Given the description of an element on the screen output the (x, y) to click on. 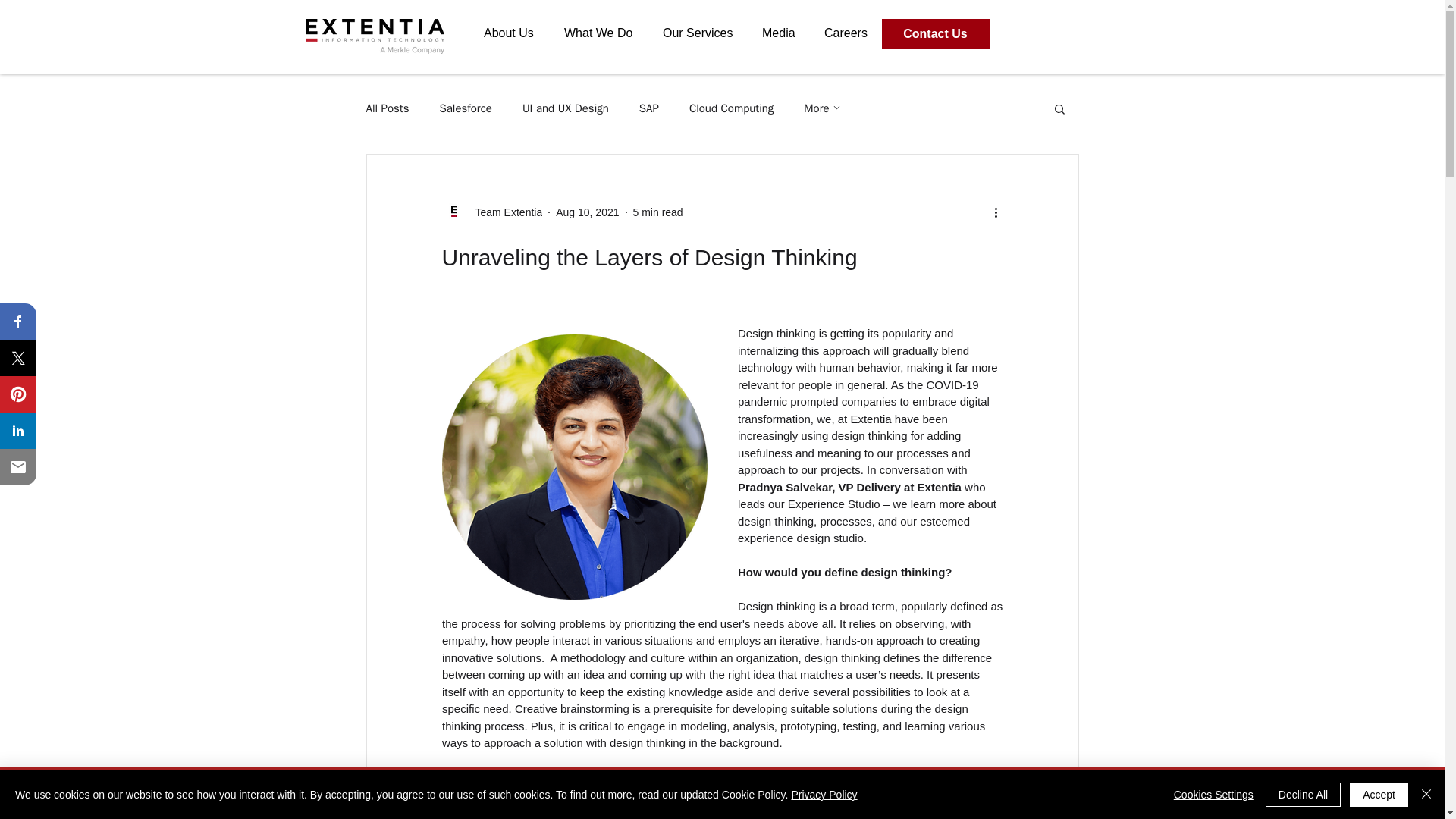
5 min read (657, 212)
Our Services (703, 32)
Site Search (1078, 35)
Aug 10, 2021 (587, 212)
What We Do (604, 32)
Cloud Computing (730, 108)
SAP (649, 108)
Team Extentia (503, 212)
About Us (516, 32)
Media (784, 32)
Contact Us (933, 32)
All Posts (387, 108)
Careers (851, 32)
Salesforce (465, 108)
Contact Us (934, 33)
